Given the description of an element on the screen output the (x, y) to click on. 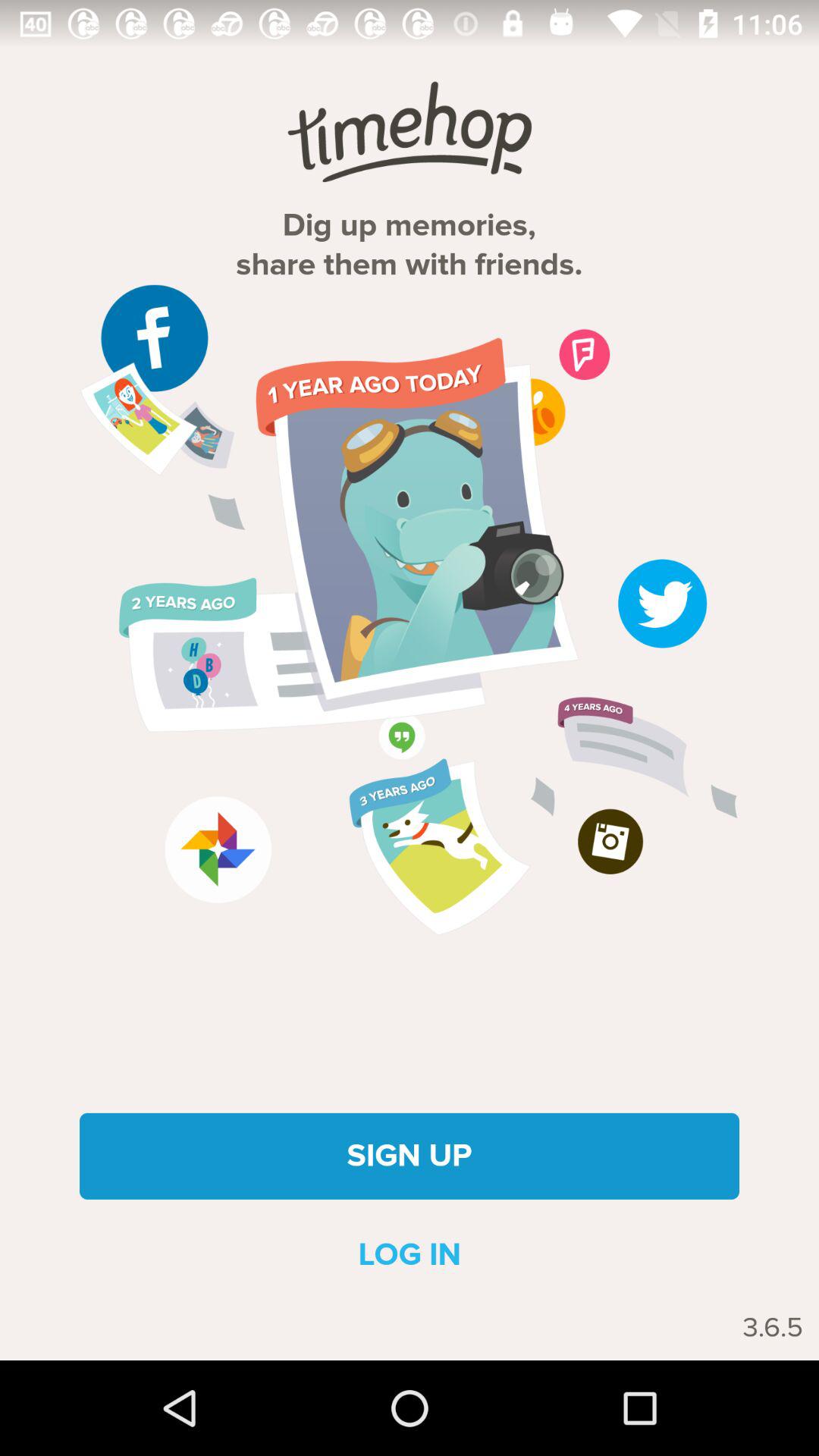
tap sign up item (409, 1156)
